Given the description of an element on the screen output the (x, y) to click on. 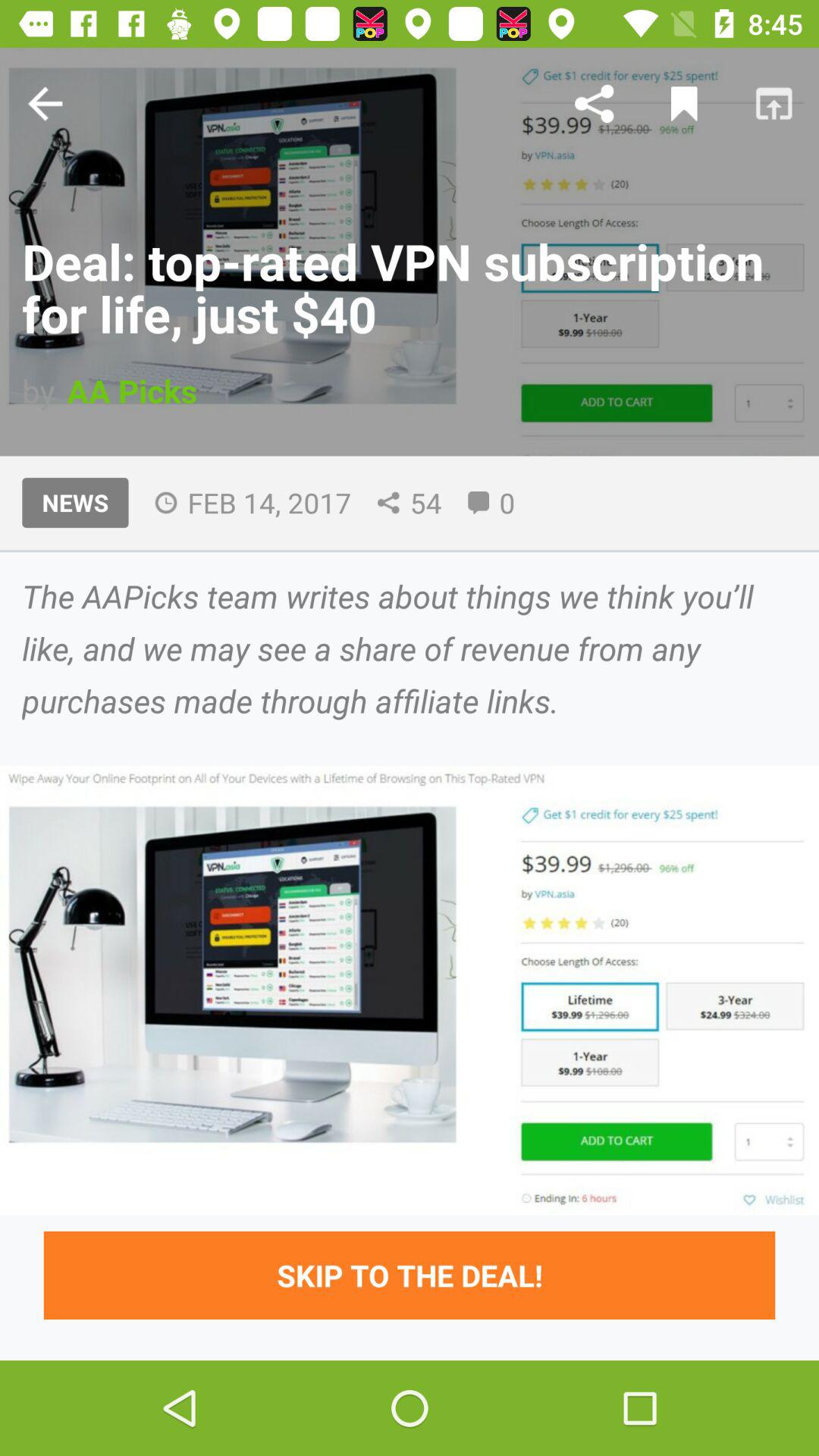
select the complete paragraph below the word news (409, 648)
